Given the description of an element on the screen output the (x, y) to click on. 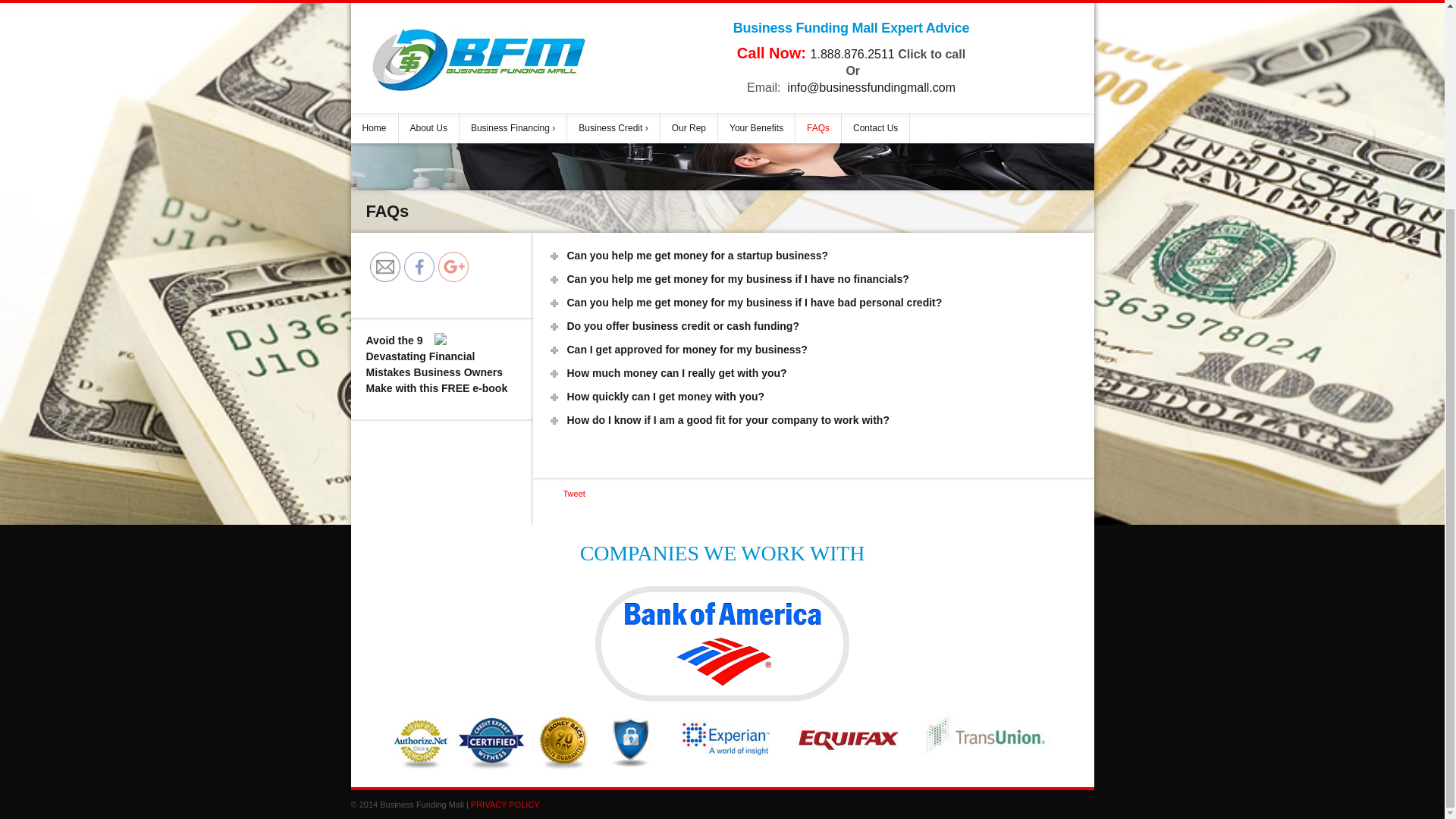
Facebook (418, 266)
Follow by Email (384, 266)
